Given the description of an element on the screen output the (x, y) to click on. 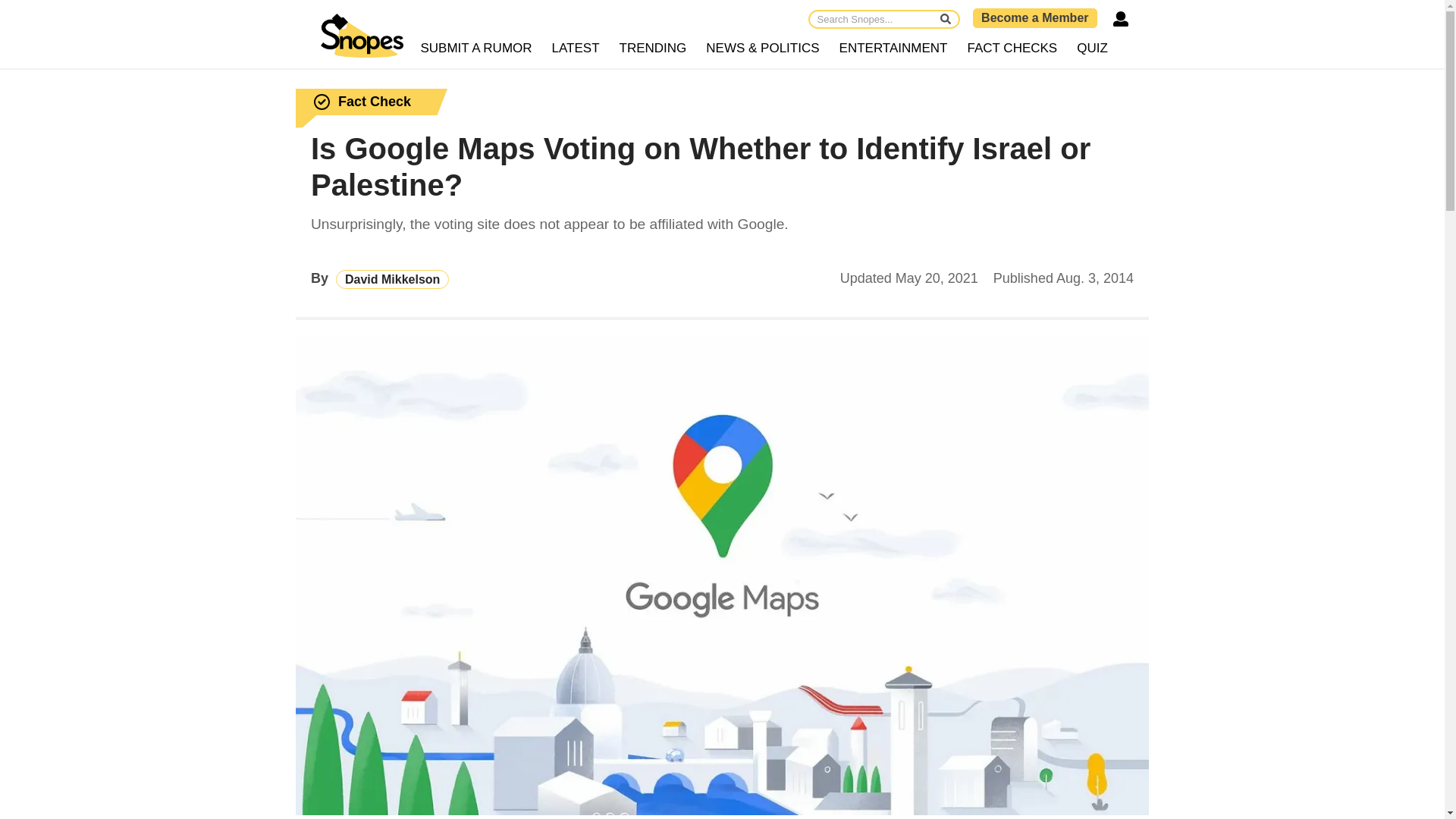
Become a Member (1034, 17)
FACT CHECKS (1011, 47)
QUIZ (1092, 47)
LATEST (576, 47)
David Mikkelson (392, 279)
SUBMIT A RUMOR (475, 47)
TRENDING (653, 47)
ENTERTAINMENT (893, 47)
